Given the description of an element on the screen output the (x, y) to click on. 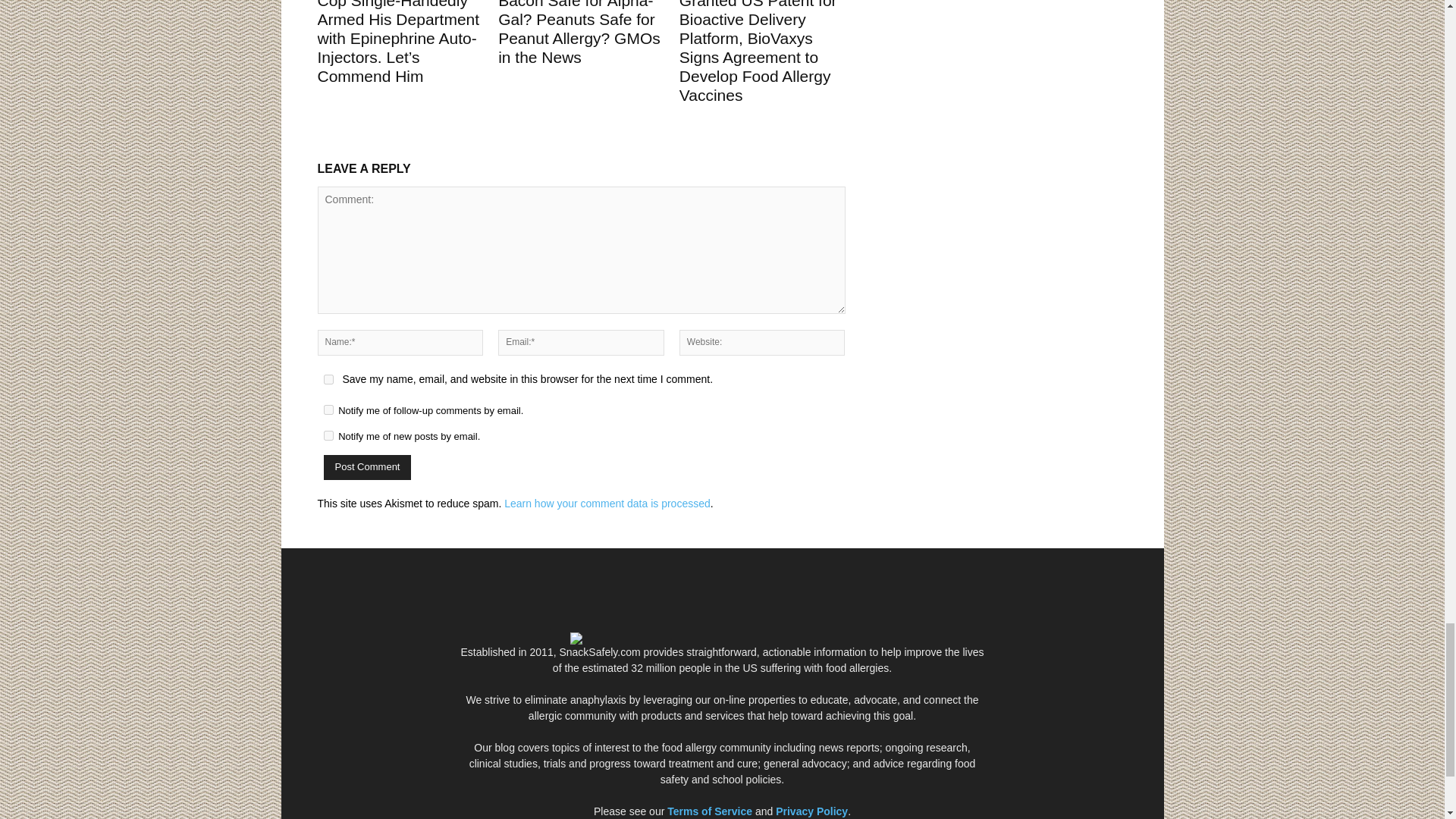
subscribe (328, 435)
Post Comment (366, 467)
subscribe (328, 409)
yes (328, 379)
